Given the description of an element on the screen output the (x, y) to click on. 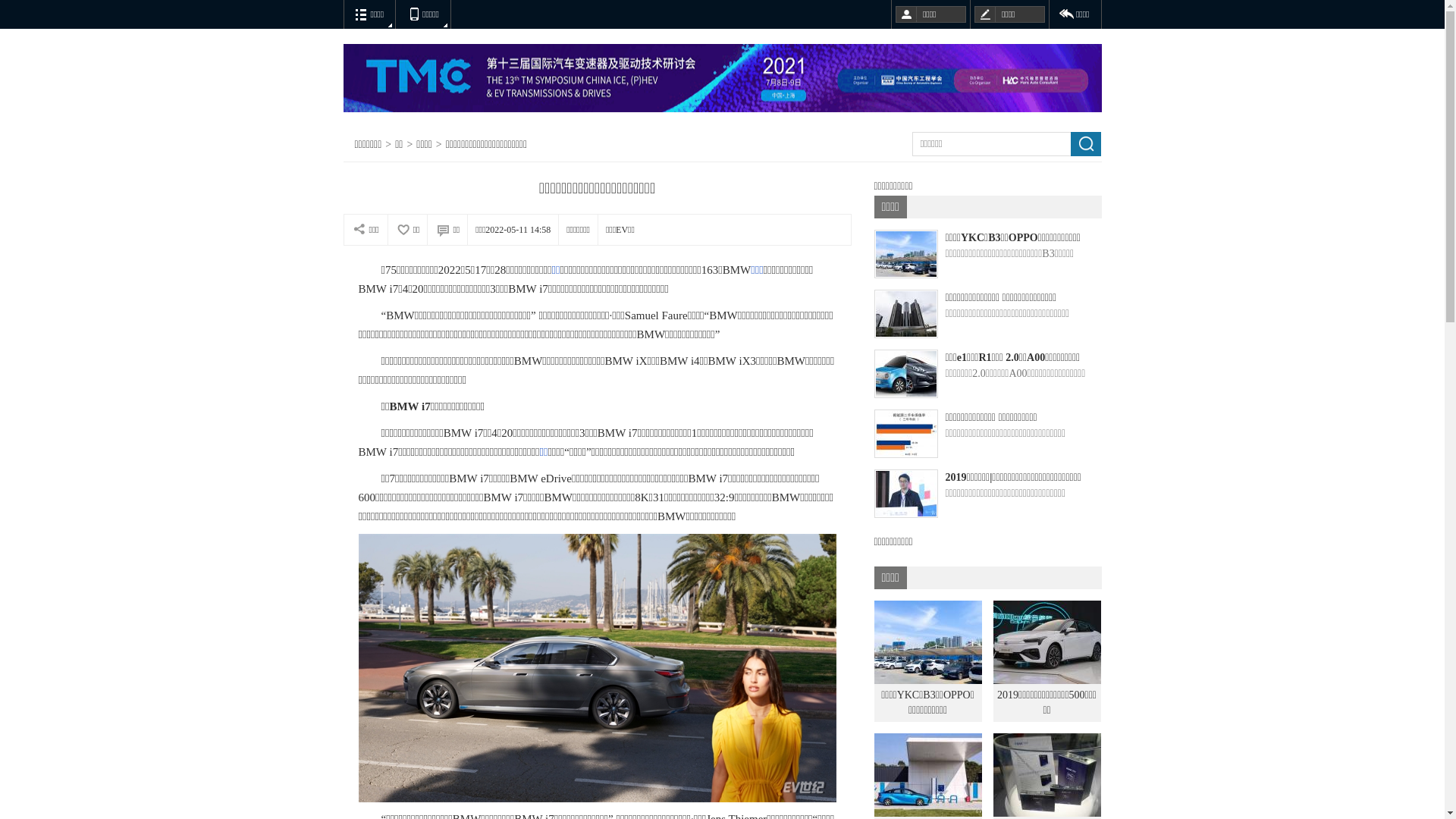
0 Element type: text (26, 28)
11145534c23b2971166765.jpg Element type: hover (596, 667)
